Given the description of an element on the screen output the (x, y) to click on. 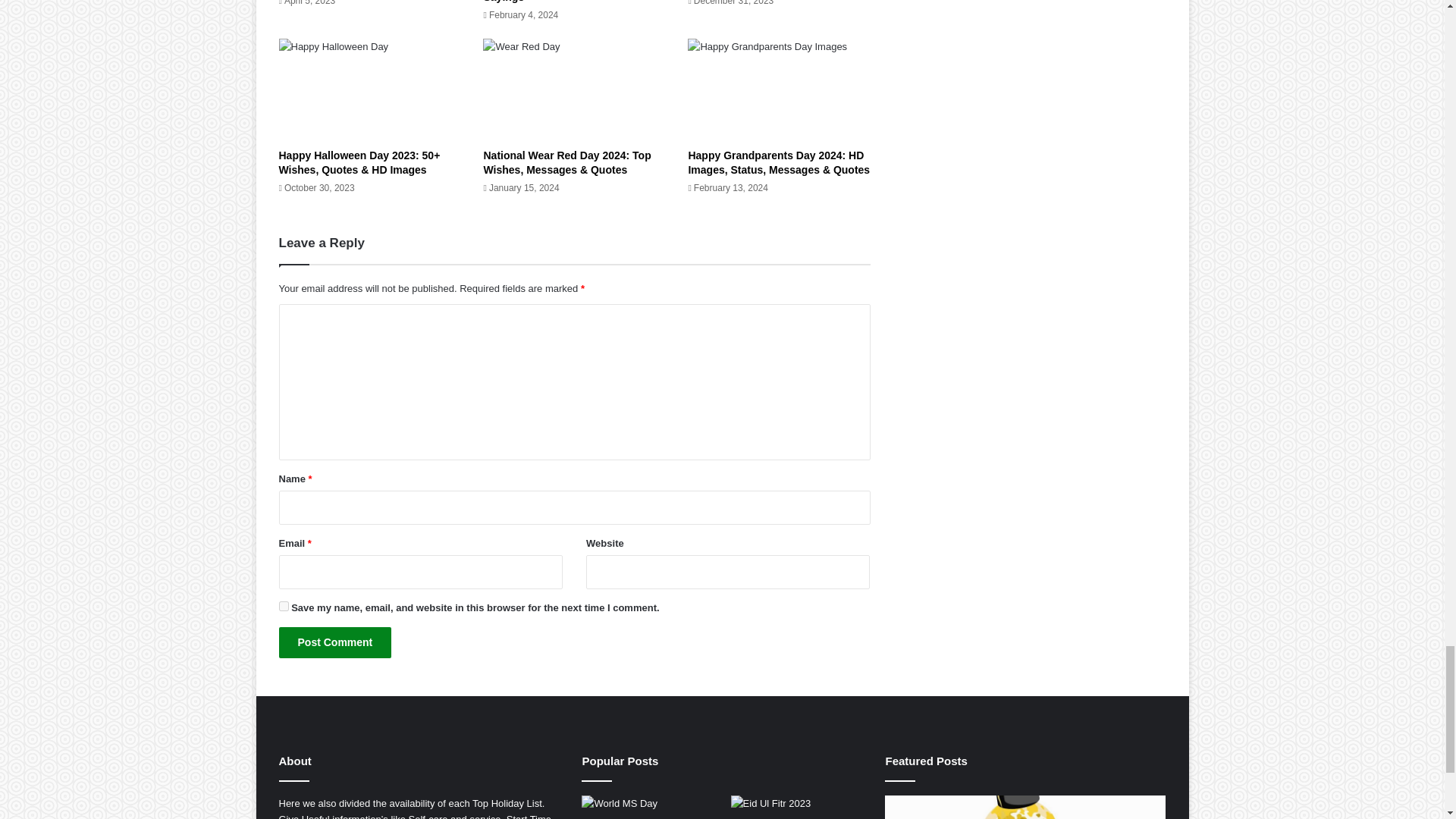
Post Comment (335, 642)
yes (283, 605)
